Given the description of an element on the screen output the (x, y) to click on. 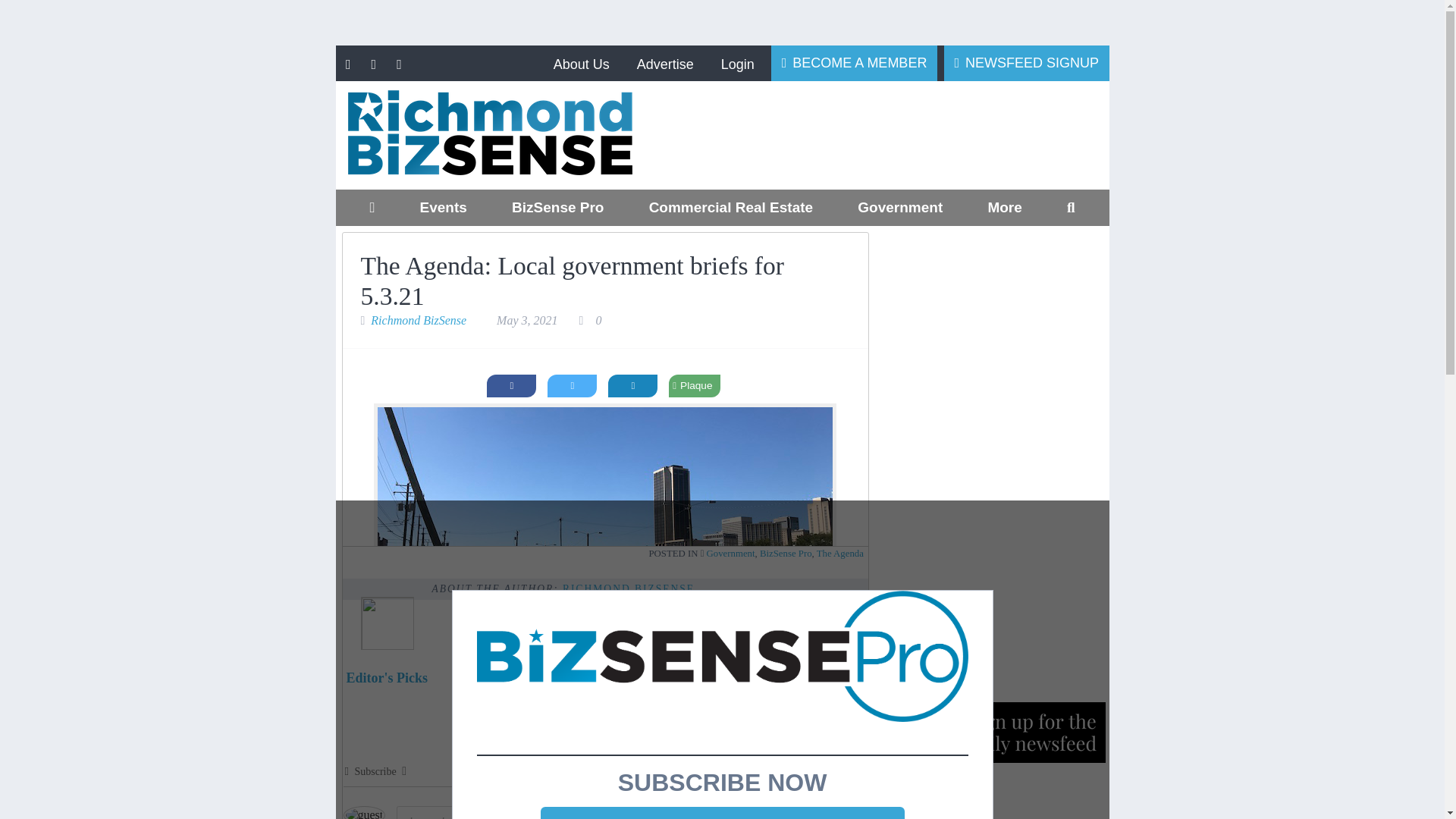
Posts by Richmond BizSense (628, 588)
Events (443, 207)
Advertise (664, 63)
The Agenda: Local government briefs for 5.3.21 1 (604, 544)
Government (900, 207)
Login (737, 63)
About Us (581, 63)
BizSense Pro (557, 207)
NEWSFEED SIGNUP (1026, 62)
BECOME A MEMBER (854, 62)
More (1004, 207)
Commercial Real Estate (730, 207)
3rd party ad content (896, 135)
